Given the description of an element on the screen output the (x, y) to click on. 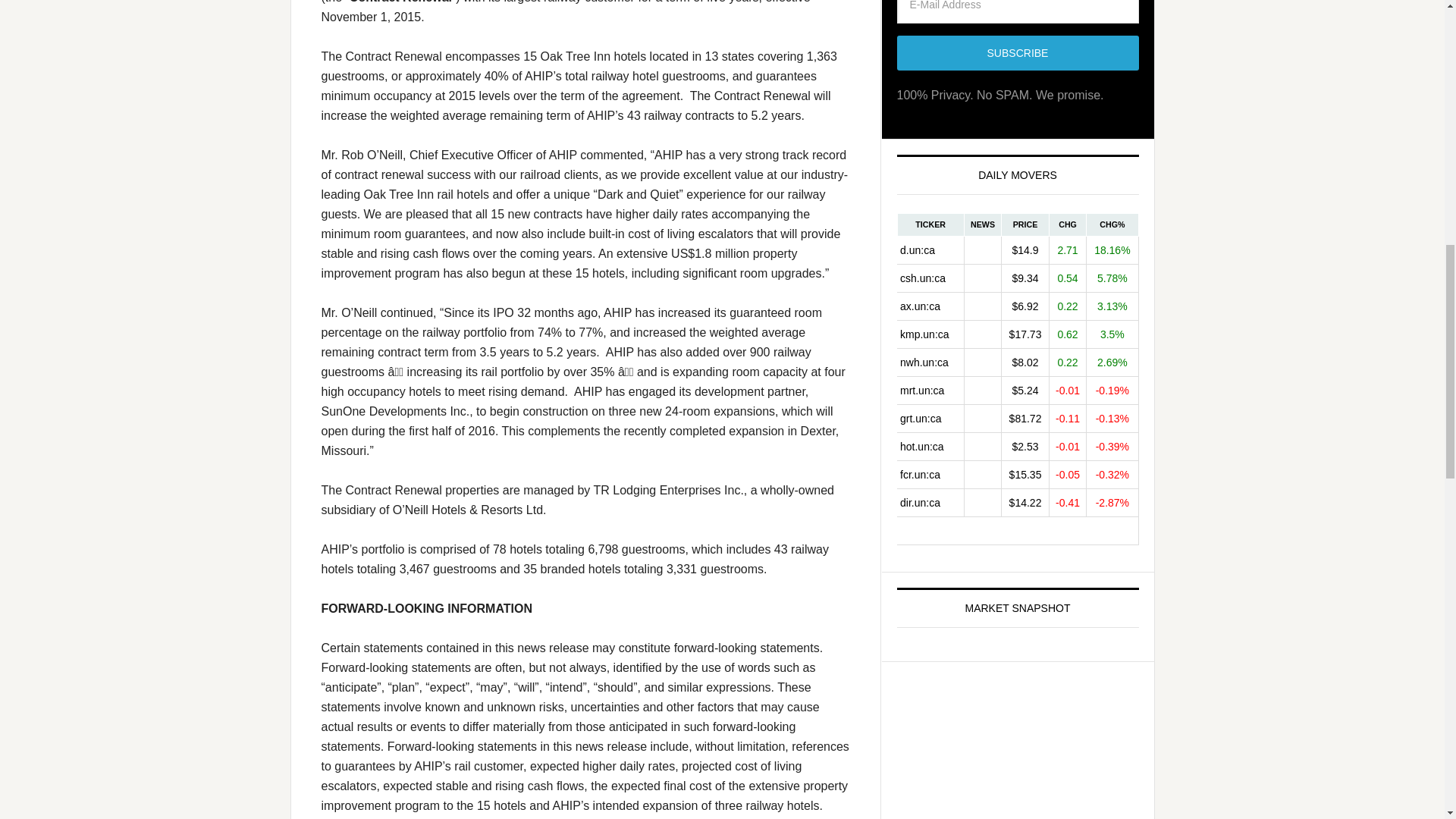
Granite REIT (929, 418)
Killam Apartment (929, 334)
American Hotel Income Properties  (929, 446)
First Capital REIT (929, 474)
Subscribe (1017, 53)
Dream Office REIT (929, 249)
Artis (929, 305)
NorthWest Healthcare Properties (929, 361)
Morguard REIT (929, 389)
Chartwell Retirement Residences (929, 277)
